Given the description of an element on the screen output the (x, y) to click on. 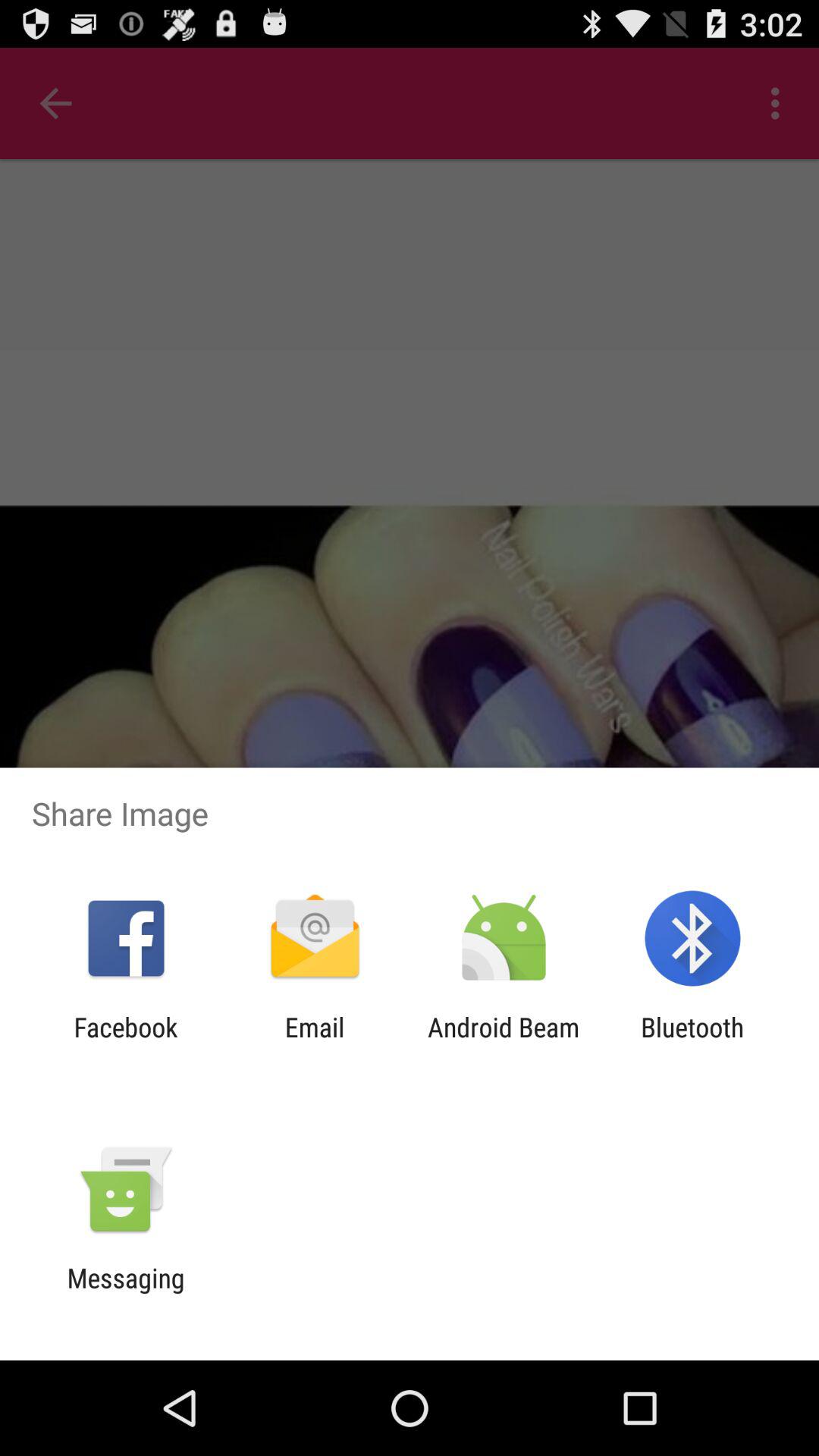
open app next to the android beam item (691, 1042)
